Given the description of an element on the screen output the (x, y) to click on. 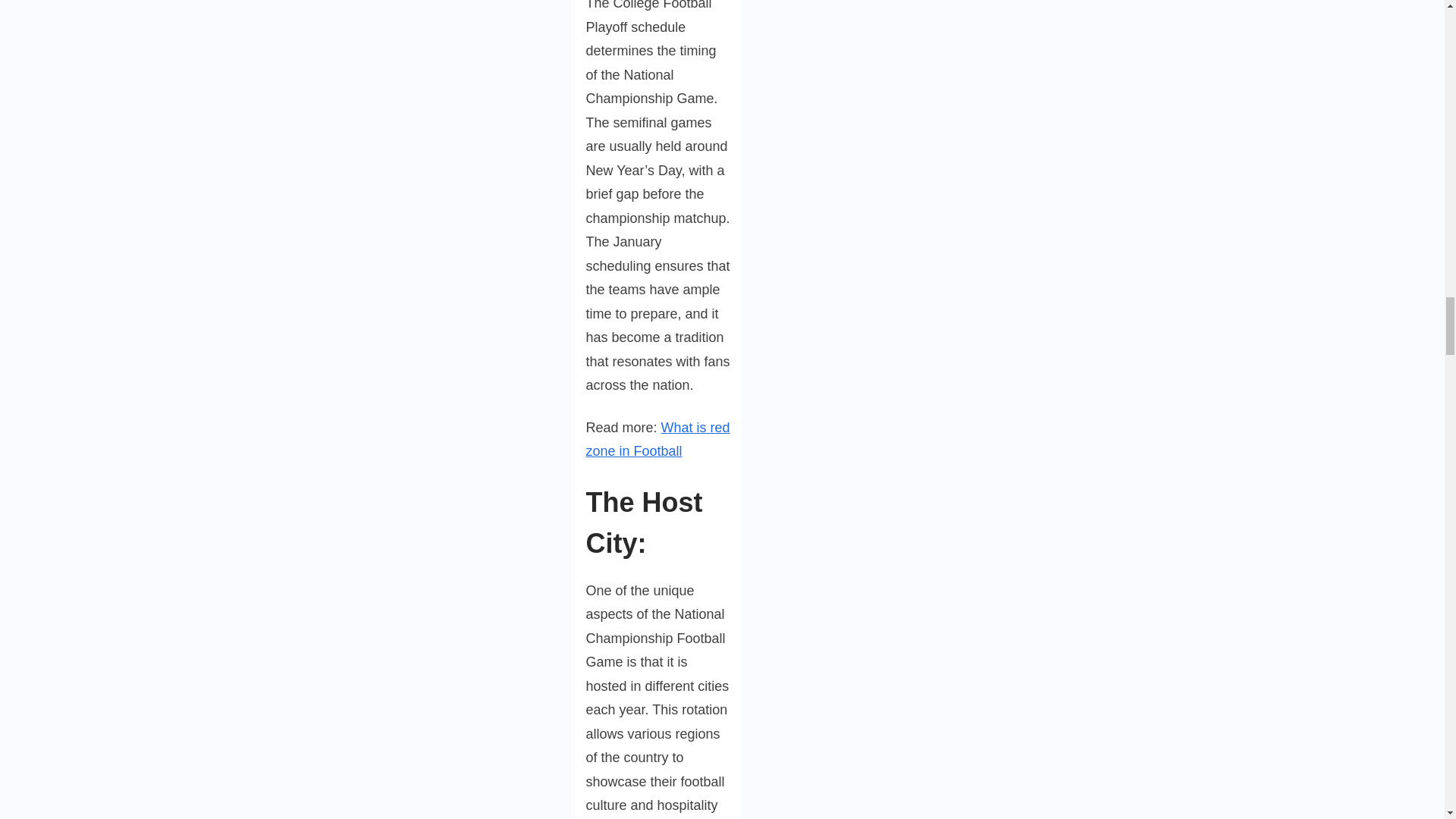
What is red zone in Football (657, 439)
